Given the description of an element on the screen output the (x, y) to click on. 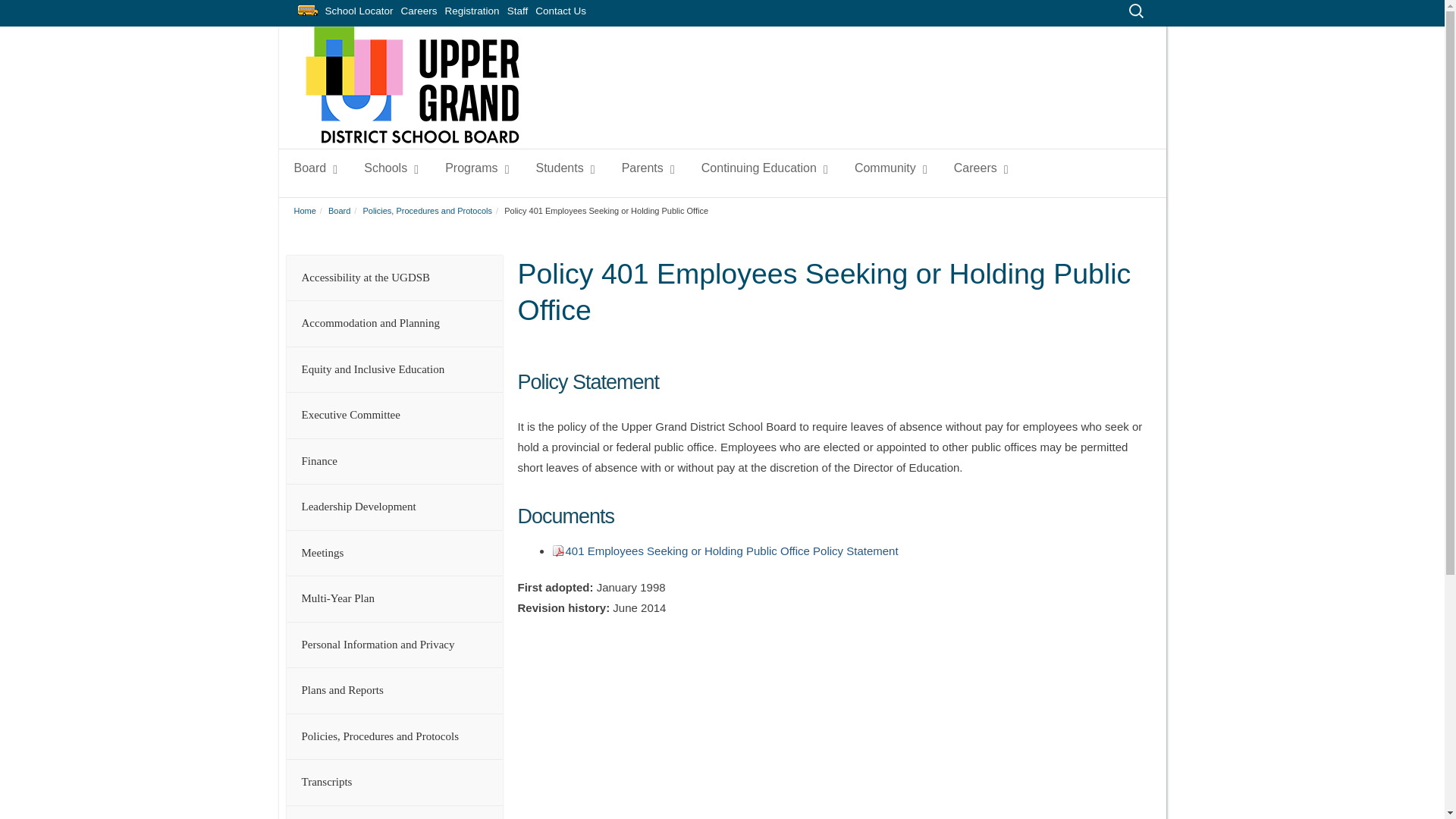
Upper Grand District School Board (411, 84)
Contact Us (560, 9)
Careers Employment (419, 9)
Board (312, 167)
Contact Us (560, 9)
Careers (419, 9)
Upper Grand District School Board (411, 138)
School Locator (359, 9)
Staff (517, 9)
Registration and Admission (472, 9)
Registration (472, 9)
Board (312, 167)
Schools (387, 167)
Bus Transportation Information (307, 10)
Search (24, 9)
